Given the description of an element on the screen output the (x, y) to click on. 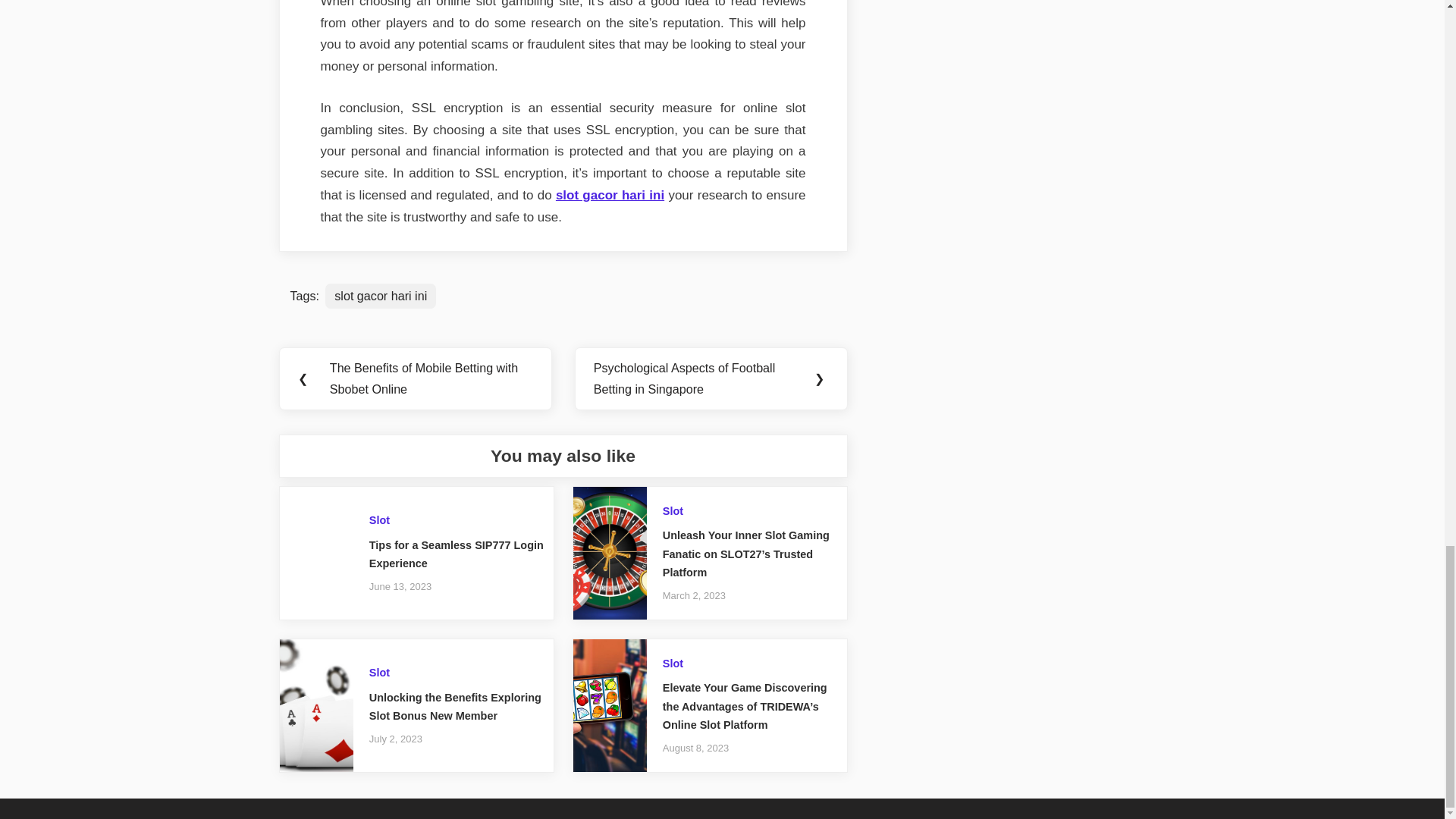
slot gacor hari ini (379, 295)
Tips for a Seamless SIP777 Login Experience (456, 554)
Unlocking the Benefits Exploring Slot Bonus New Member (455, 706)
Slot (672, 510)
Slot (379, 520)
Slot (672, 663)
slot gacor hari ini (609, 195)
Slot (379, 672)
